Given the description of an element on the screen output the (x, y) to click on. 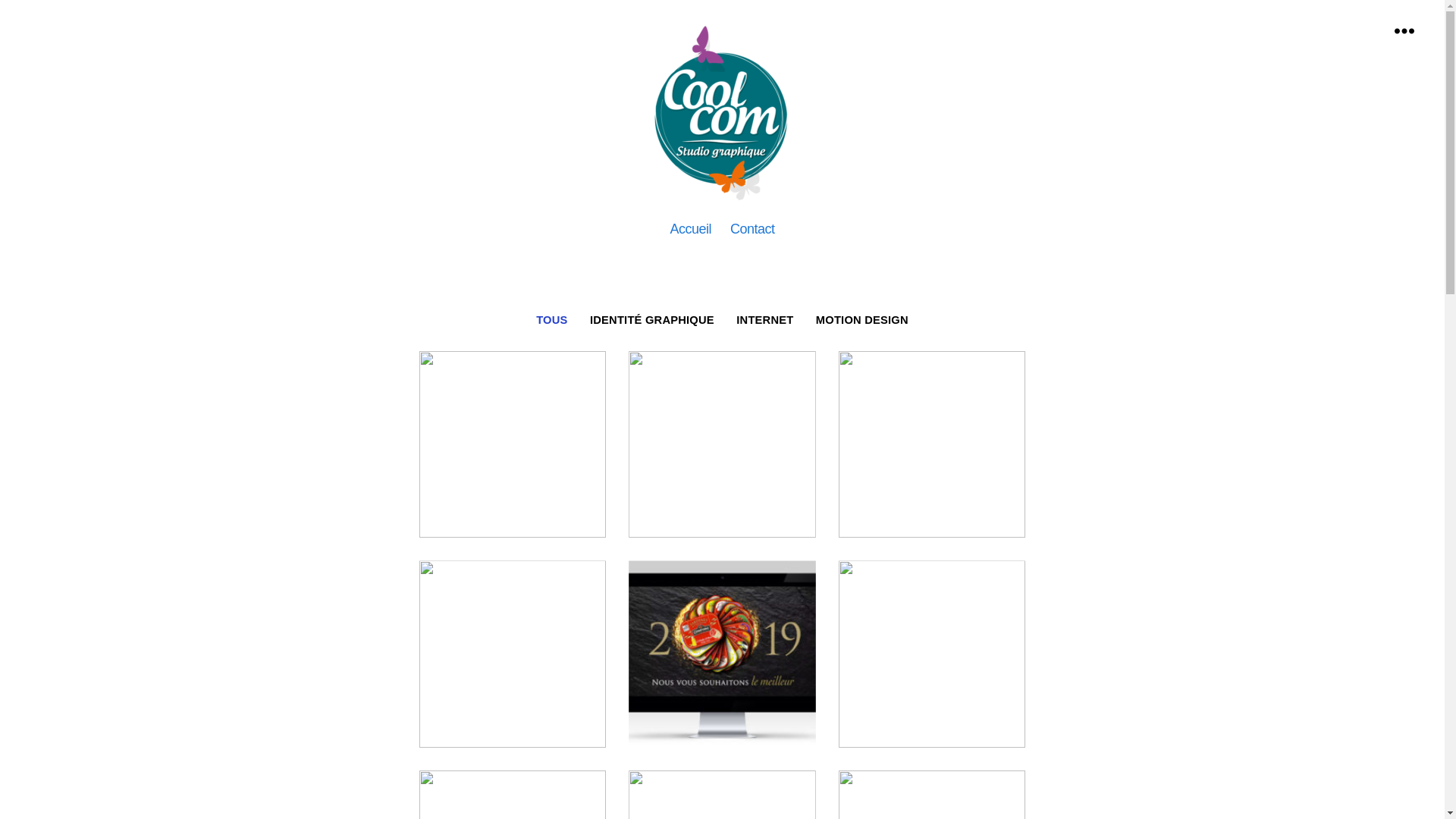
Accueil Element type: text (690, 229)
TOUS Element type: text (551, 319)
MOTION DESIGN Element type: text (861, 319)
Menu Element type: text (1404, 30)
INTERNET Element type: text (765, 319)
Contact Element type: text (752, 229)
